Given the description of an element on the screen output the (x, y) to click on. 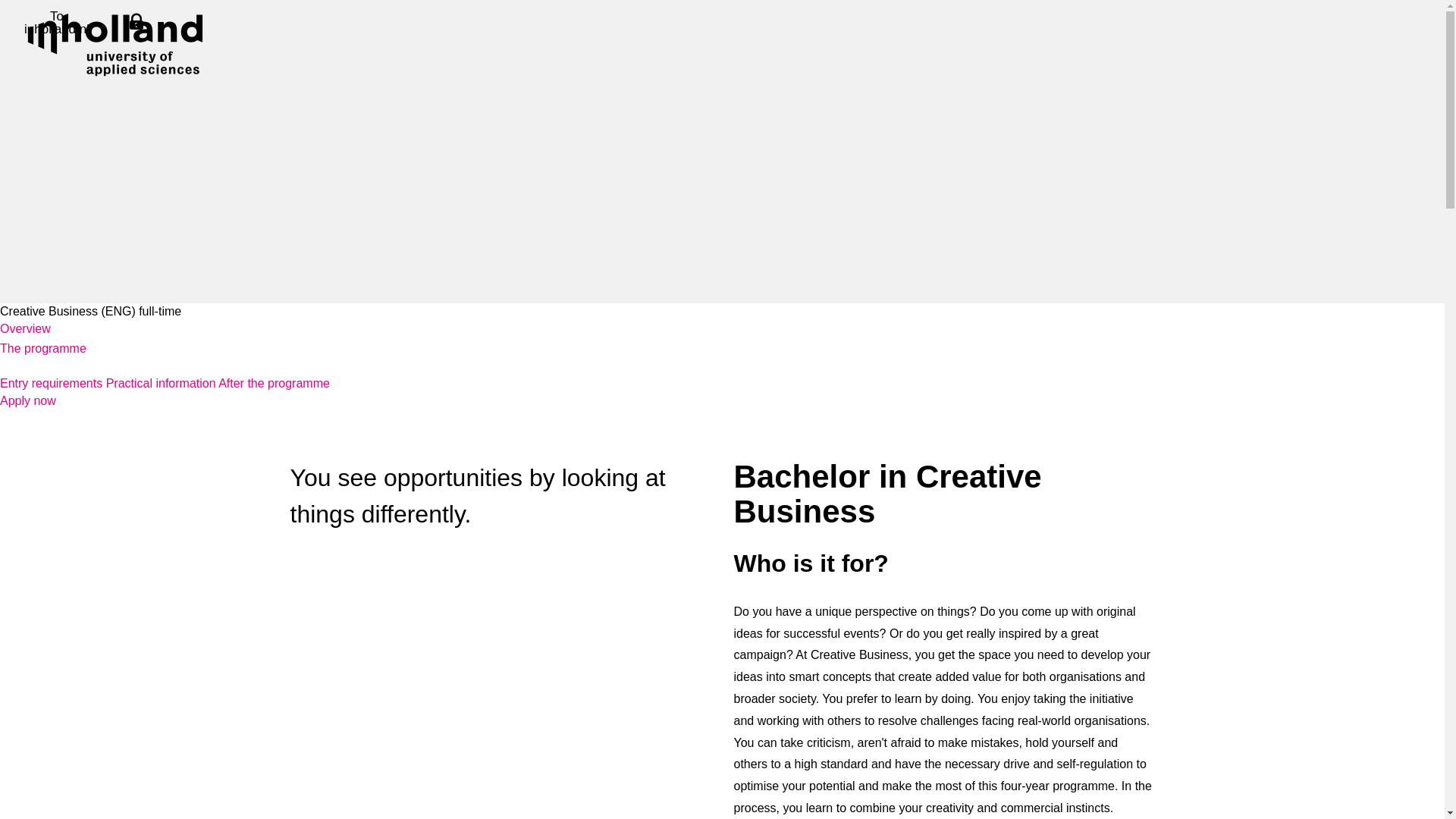
Entry requirements (53, 382)
Login (135, 22)
Practical information (162, 382)
After the programme (274, 382)
Overview (25, 328)
Apply now (28, 400)
To inholland.nl (56, 22)
